Given the description of an element on the screen output the (x, y) to click on. 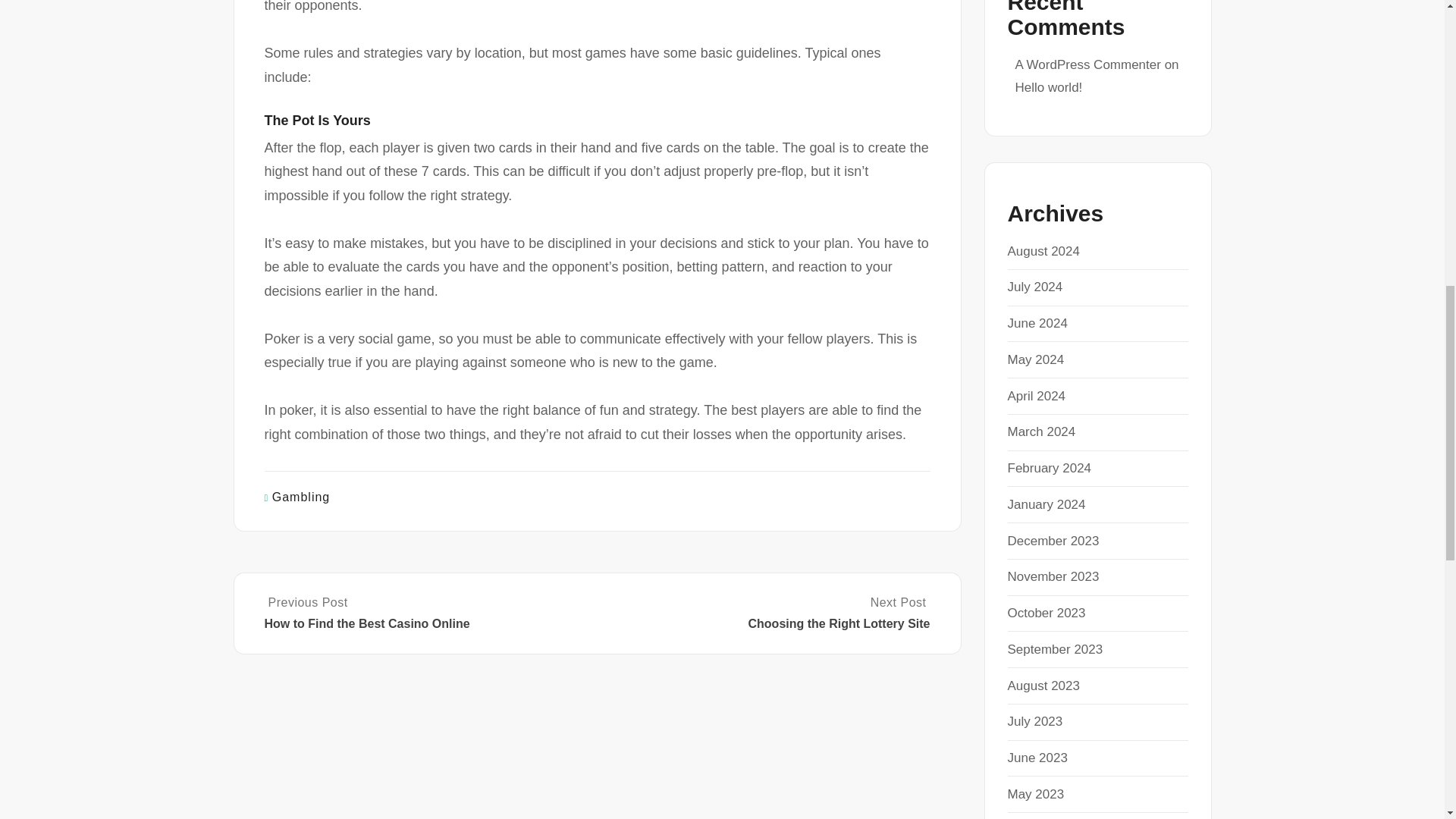
February 2024 (1048, 468)
December 2023 (1053, 540)
May 2023 (1035, 794)
June 2024 (1037, 323)
September 2023 (1054, 649)
Gambling (301, 496)
April 2024 (1036, 396)
March 2024 (1041, 431)
July 2024 (1034, 287)
November 2023 (1053, 576)
January 2024 (1045, 504)
May 2024 (1035, 359)
August 2024 (1042, 251)
